Given the description of an element on the screen output the (x, y) to click on. 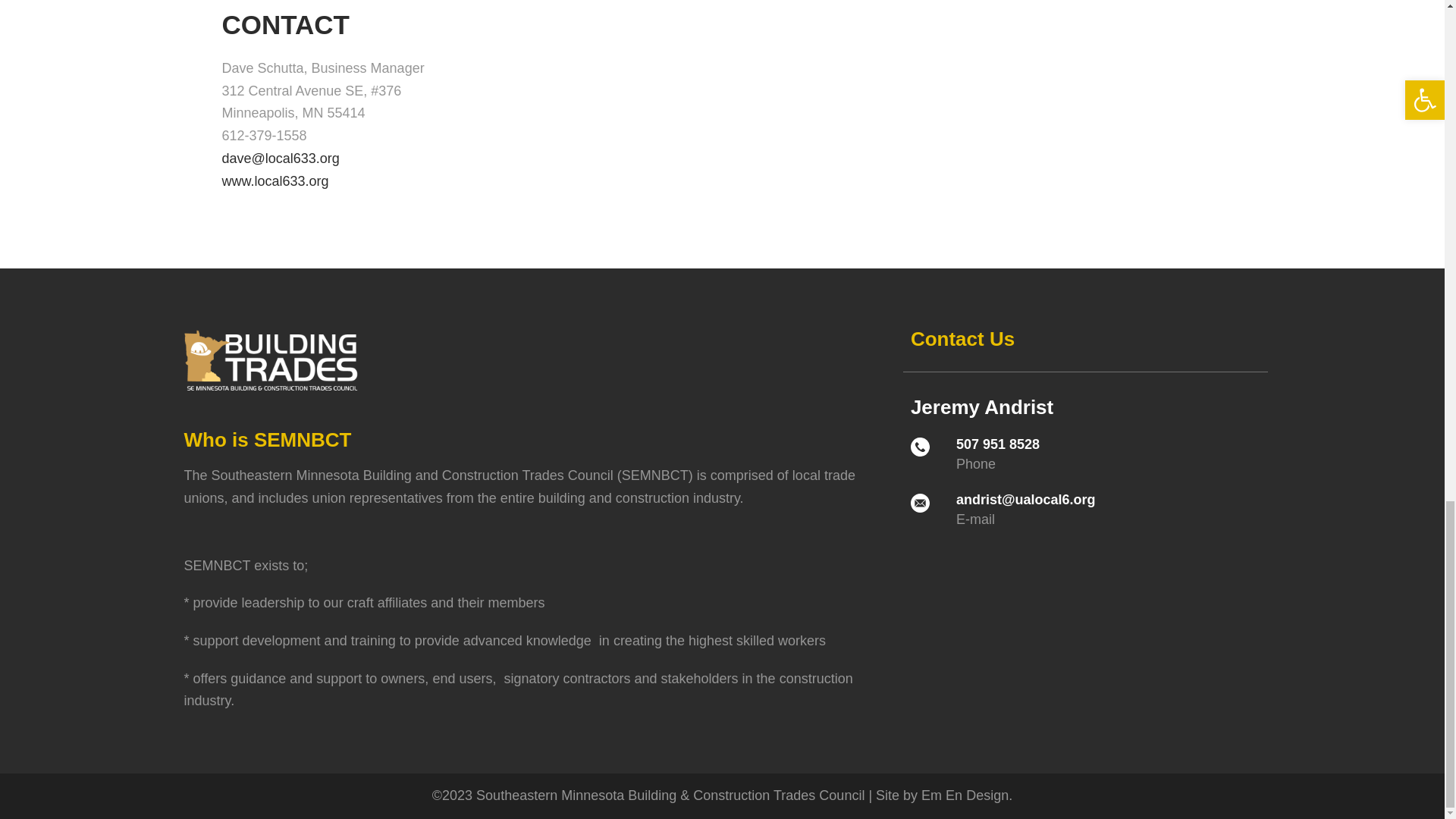
www.local633.org (275, 180)
Em En Design (965, 795)
